Given the description of an element on the screen output the (x, y) to click on. 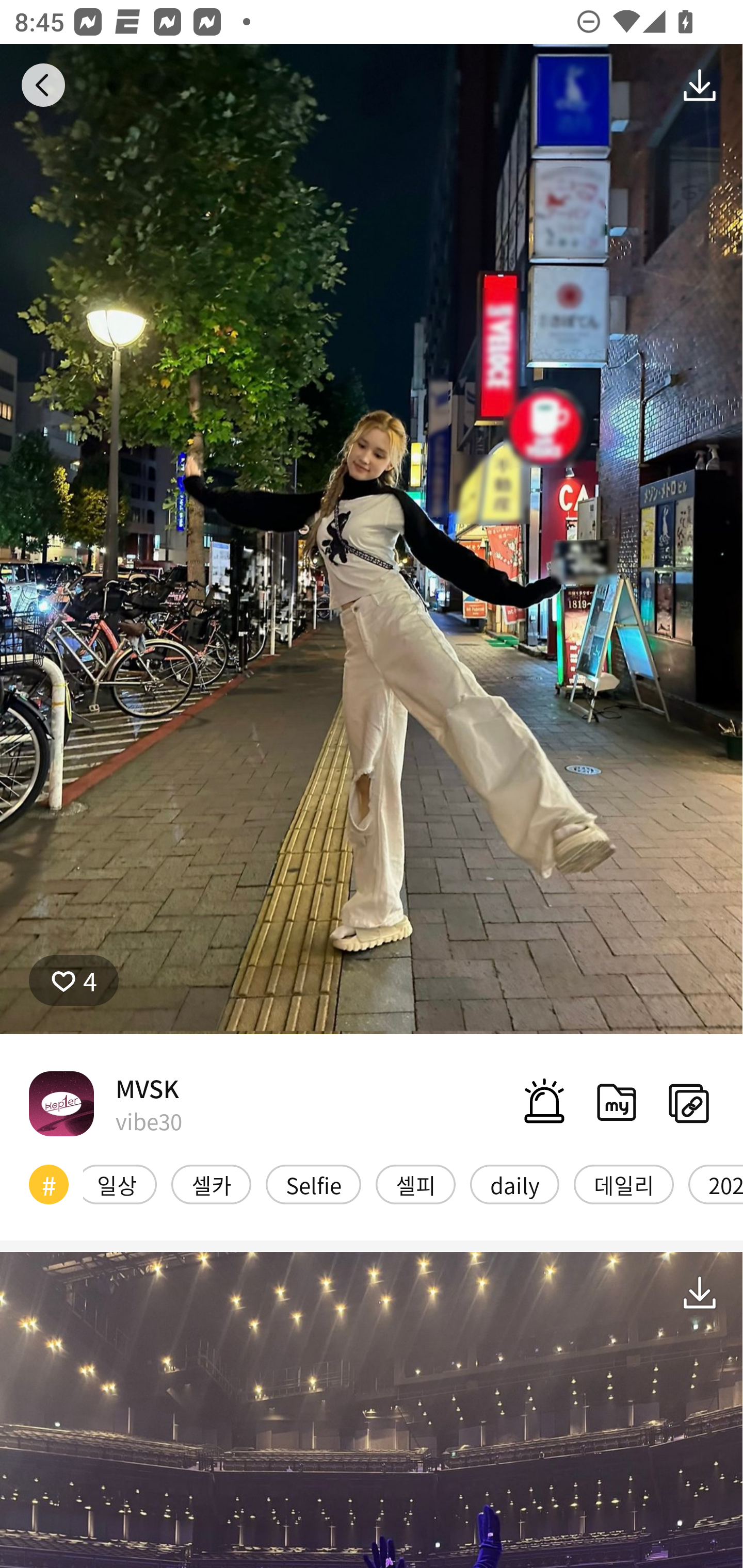
4 (73, 980)
MVSK vibe30 (105, 1102)
일상 (119, 1184)
셀카 (211, 1184)
Selfie (313, 1184)
셀피 (415, 1184)
daily (514, 1184)
데일리 (623, 1184)
